Given the description of an element on the screen output the (x, y) to click on. 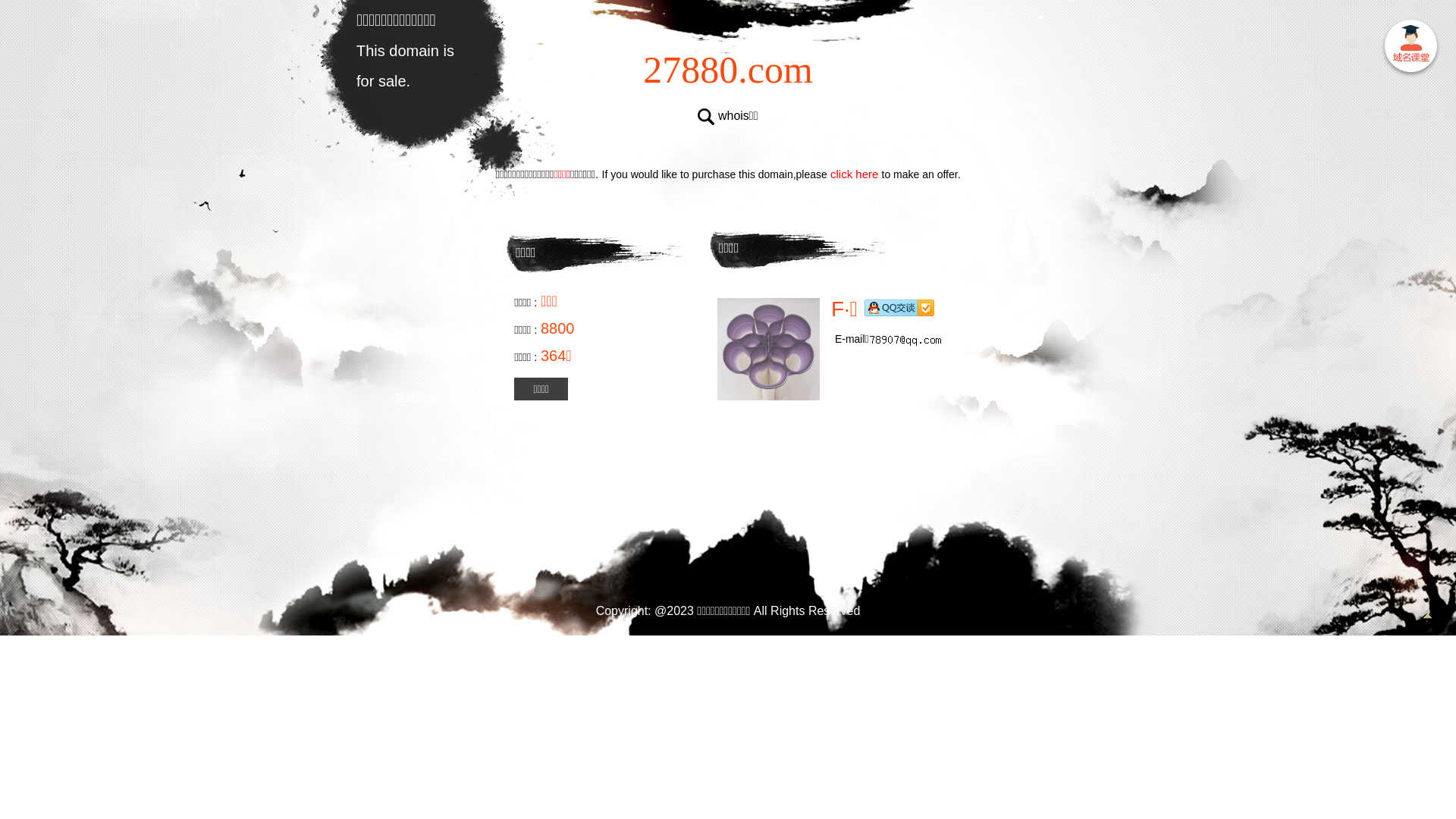
click here Element type: text (854, 173)
  Element type: text (1410, 48)
